Given the description of an element on the screen output the (x, y) to click on. 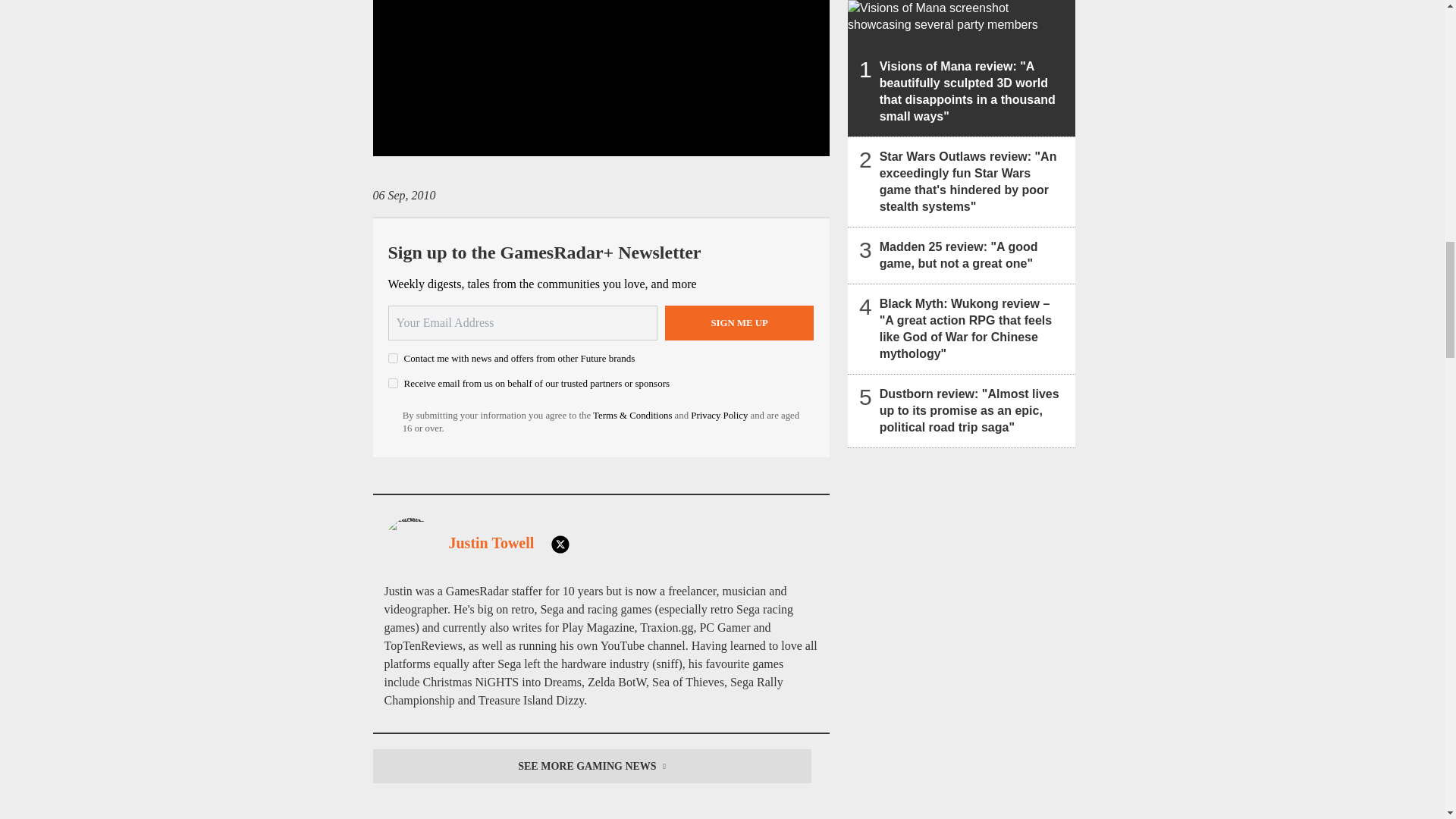
Sign me up (739, 322)
on (392, 357)
on (392, 383)
